Given the description of an element on the screen output the (x, y) to click on. 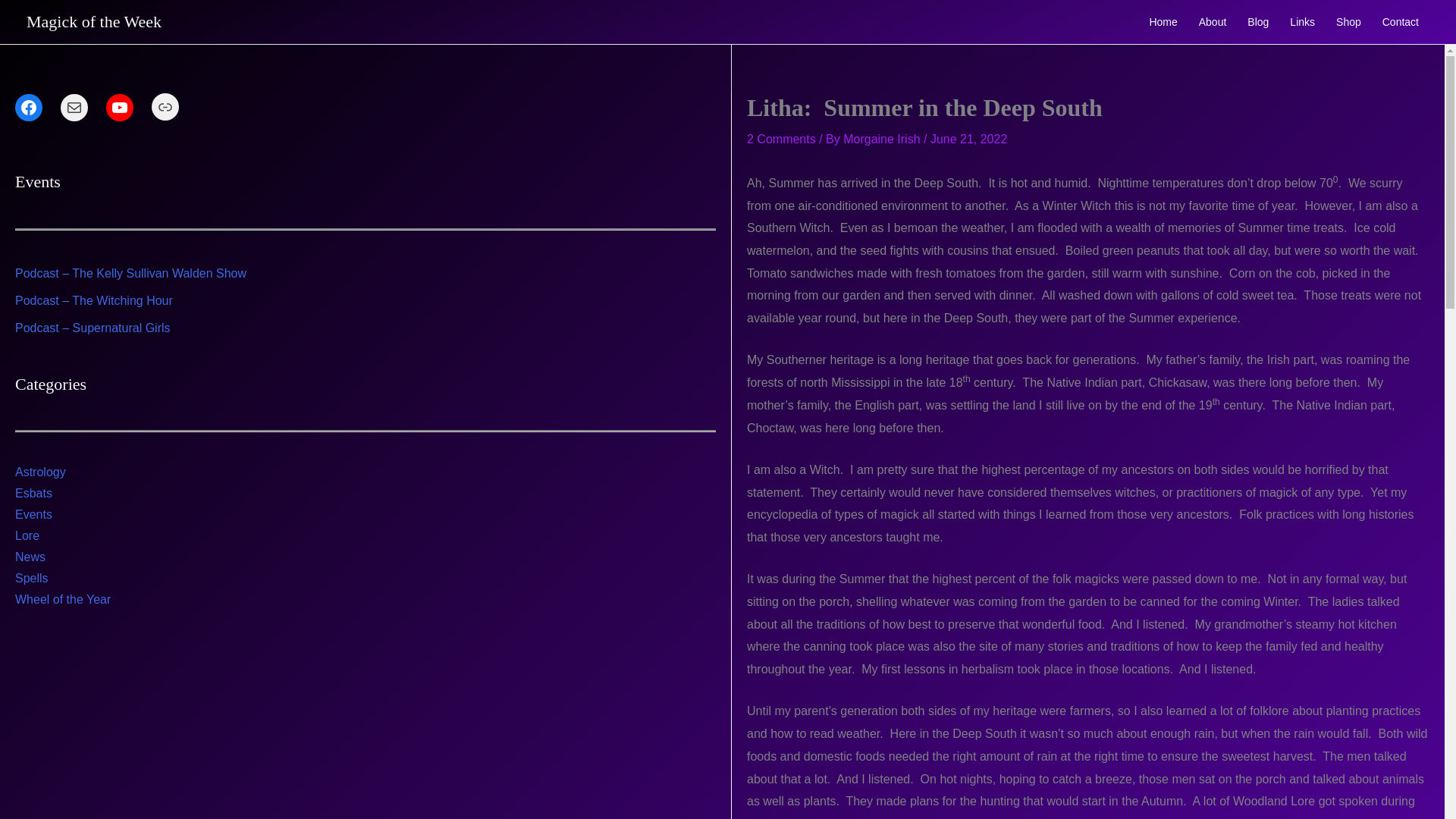
Link (165, 106)
Home (1163, 21)
Esbats (33, 492)
About (1212, 21)
Magick of the Week (93, 21)
Events (33, 513)
News (29, 556)
Morgaine Irish (883, 138)
Contact (1400, 21)
2 Comments (780, 138)
